Given the description of an element on the screen output the (x, y) to click on. 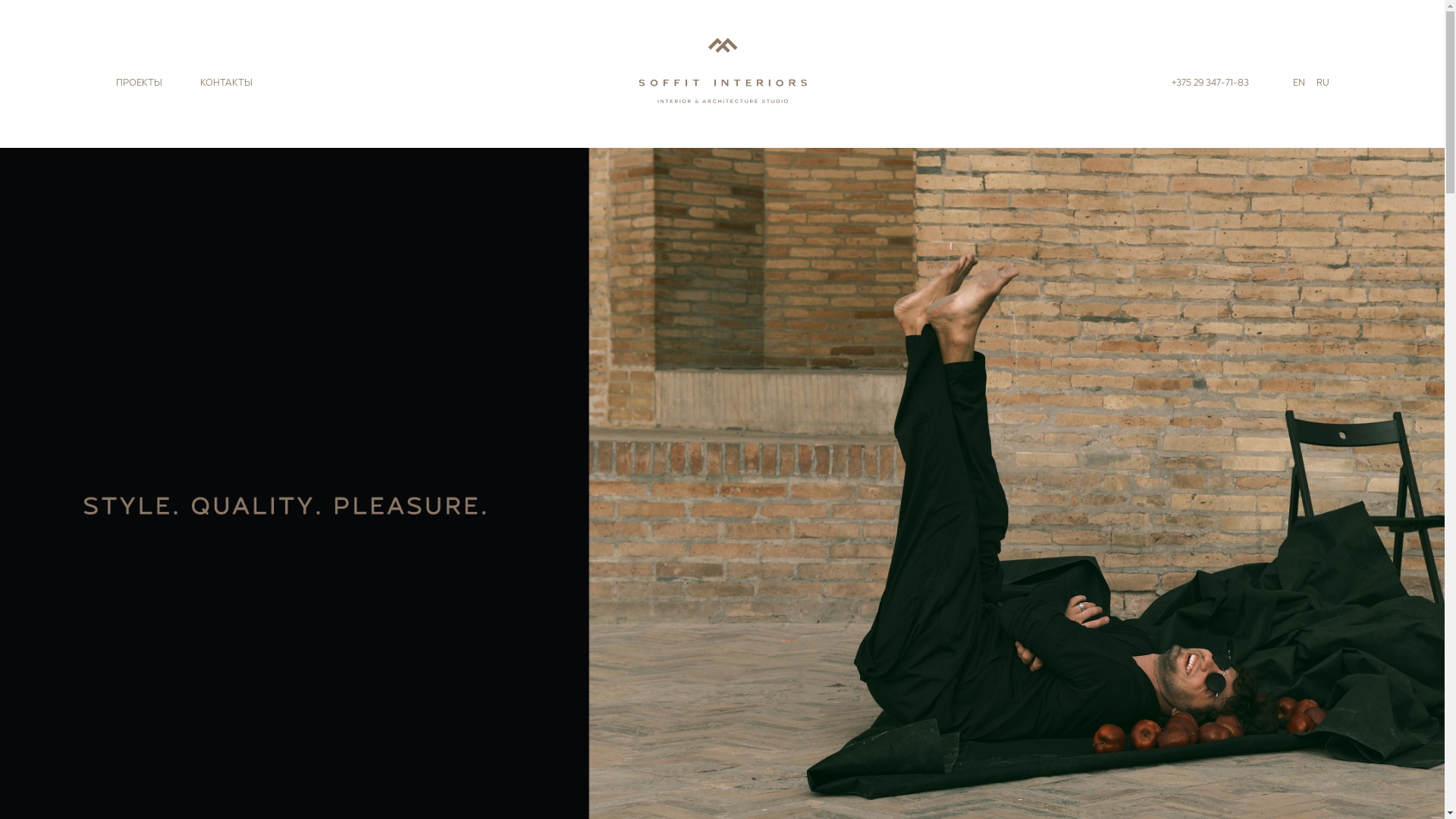
RU Element type: text (1322, 83)
EN Element type: text (1298, 83)
+375 29 347-71-83 Element type: text (1209, 83)
